Given the description of an element on the screen output the (x, y) to click on. 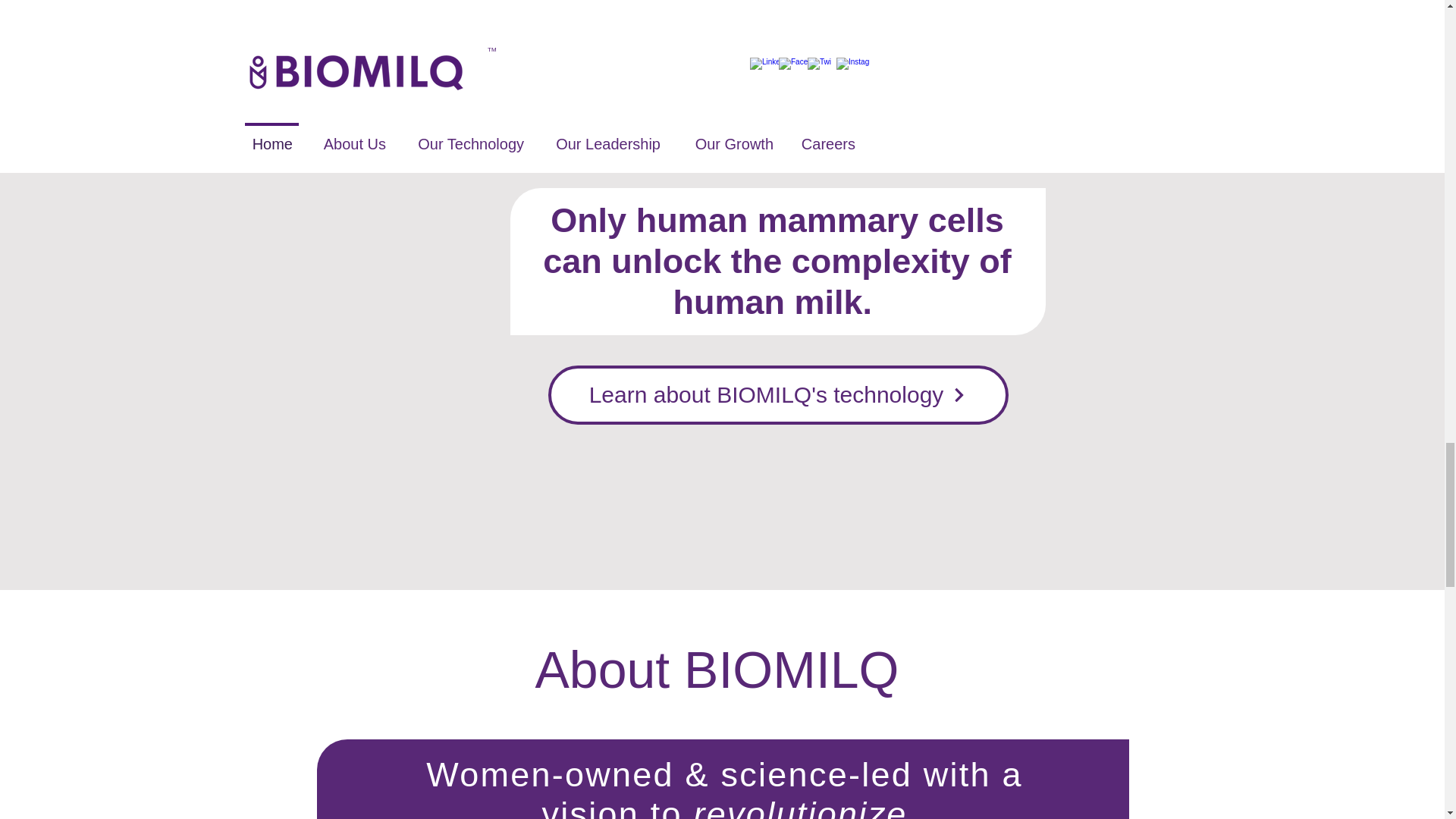
science-led with a (871, 774)
Learn about BIOMILQ's technology (777, 395)
